Given the description of an element on the screen output the (x, y) to click on. 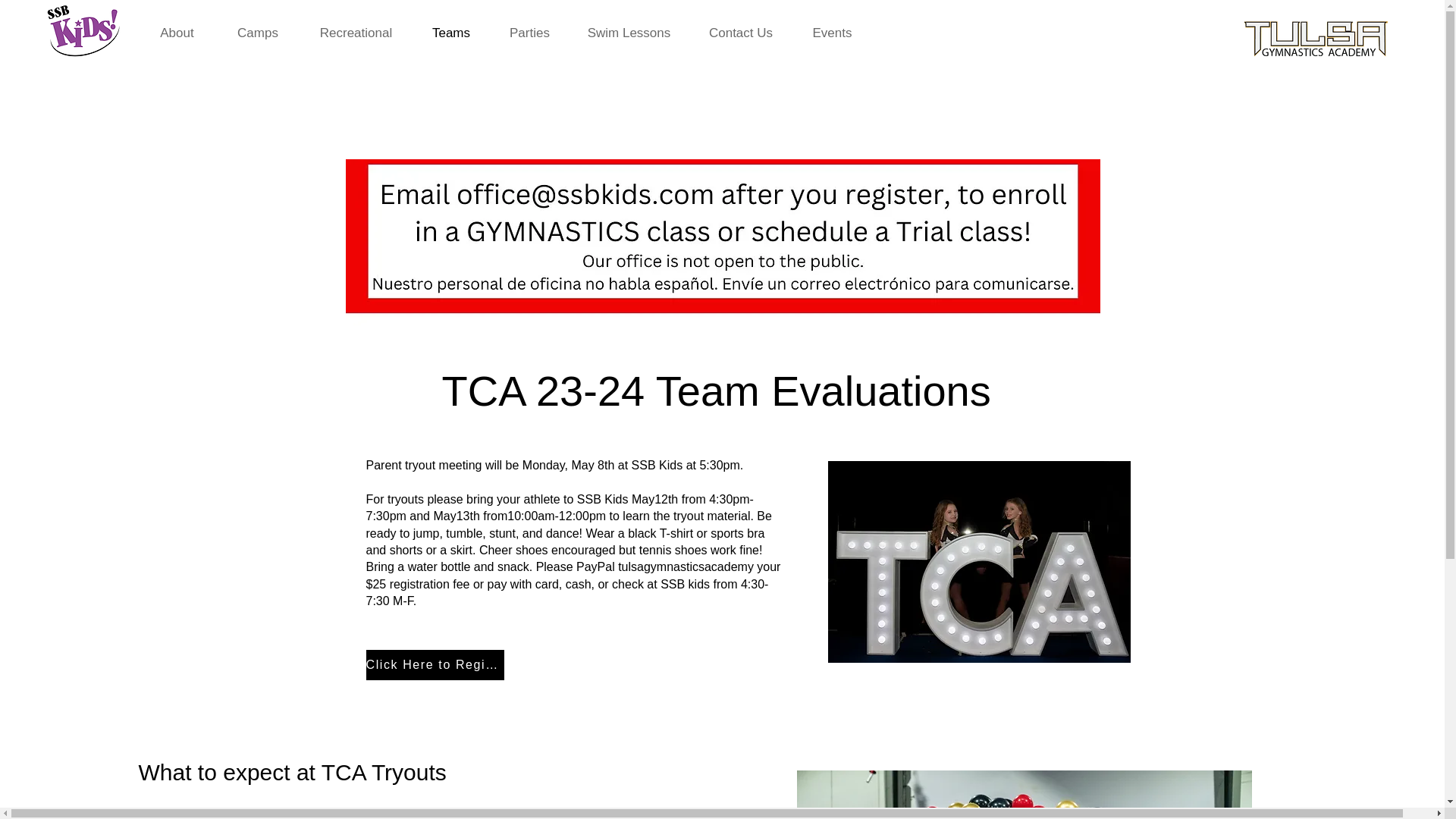
Camps (256, 32)
Swim Lessons (628, 32)
Contact Us (740, 32)
Click Here to Register (434, 665)
About (176, 32)
Events (831, 32)
Teams (450, 32)
Parties (529, 32)
Recreational (355, 32)
